Given the description of an element on the screen output the (x, y) to click on. 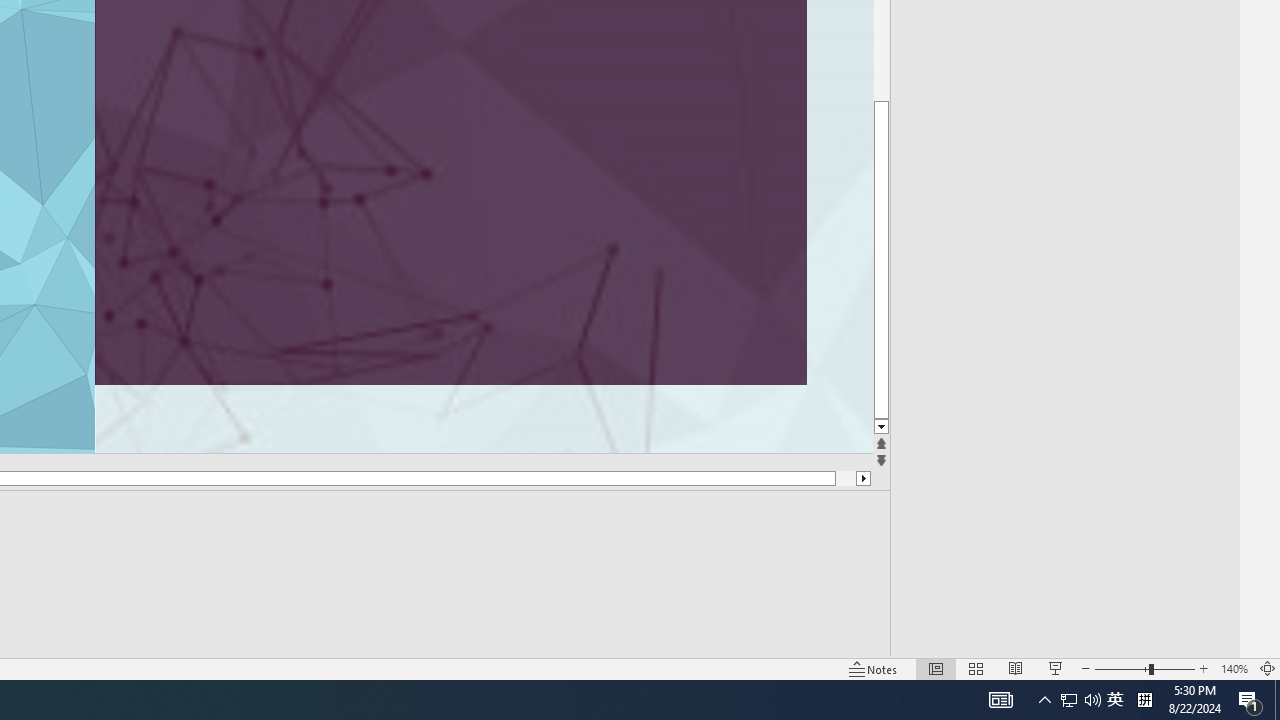
Page down (880, 258)
Zoom 140% (1234, 668)
Line down (880, 427)
